Given the description of an element on the screen output the (x, y) to click on. 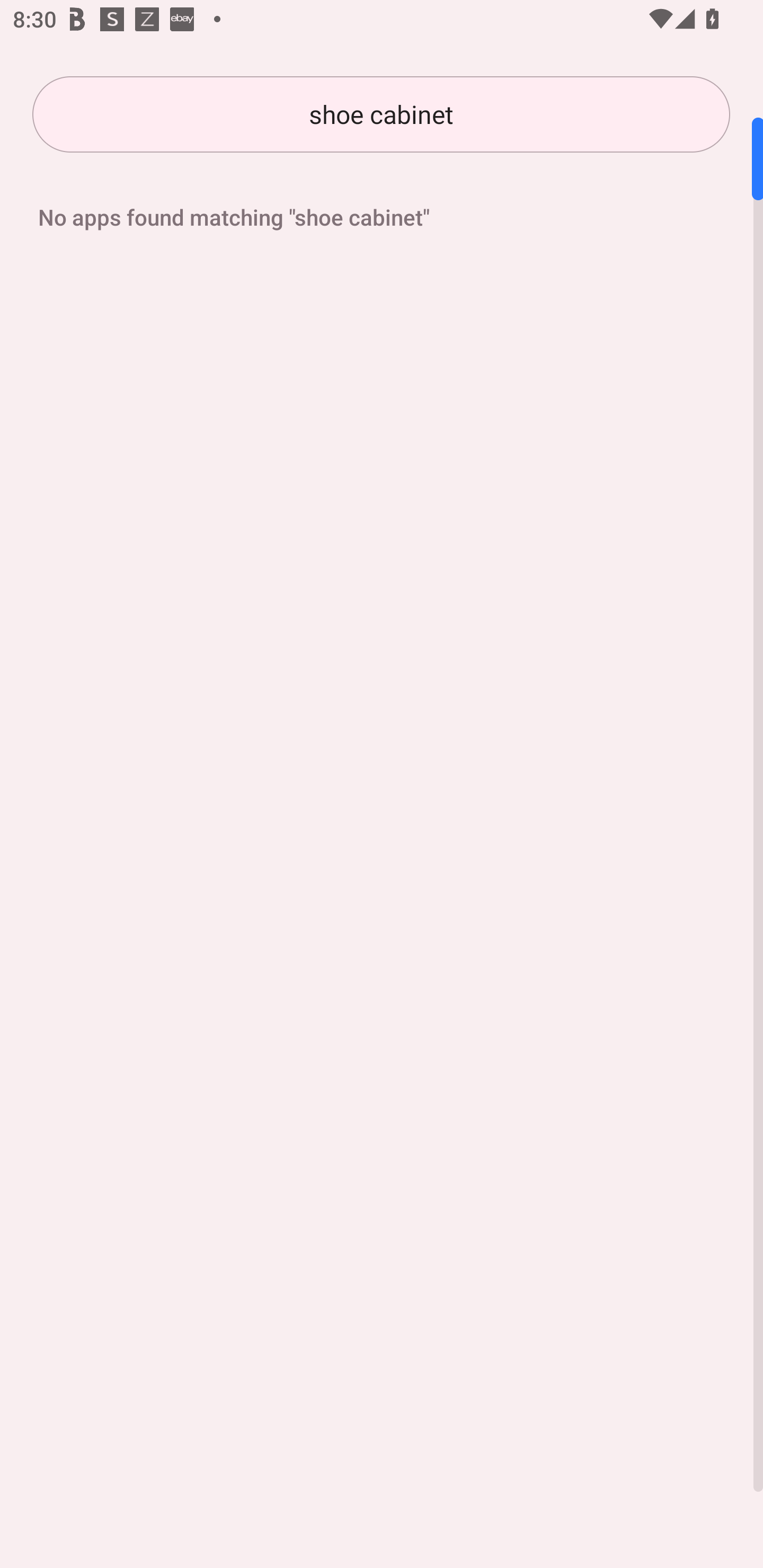
shoe cabinet (381, 114)
